Given the description of an element on the screen output the (x, y) to click on. 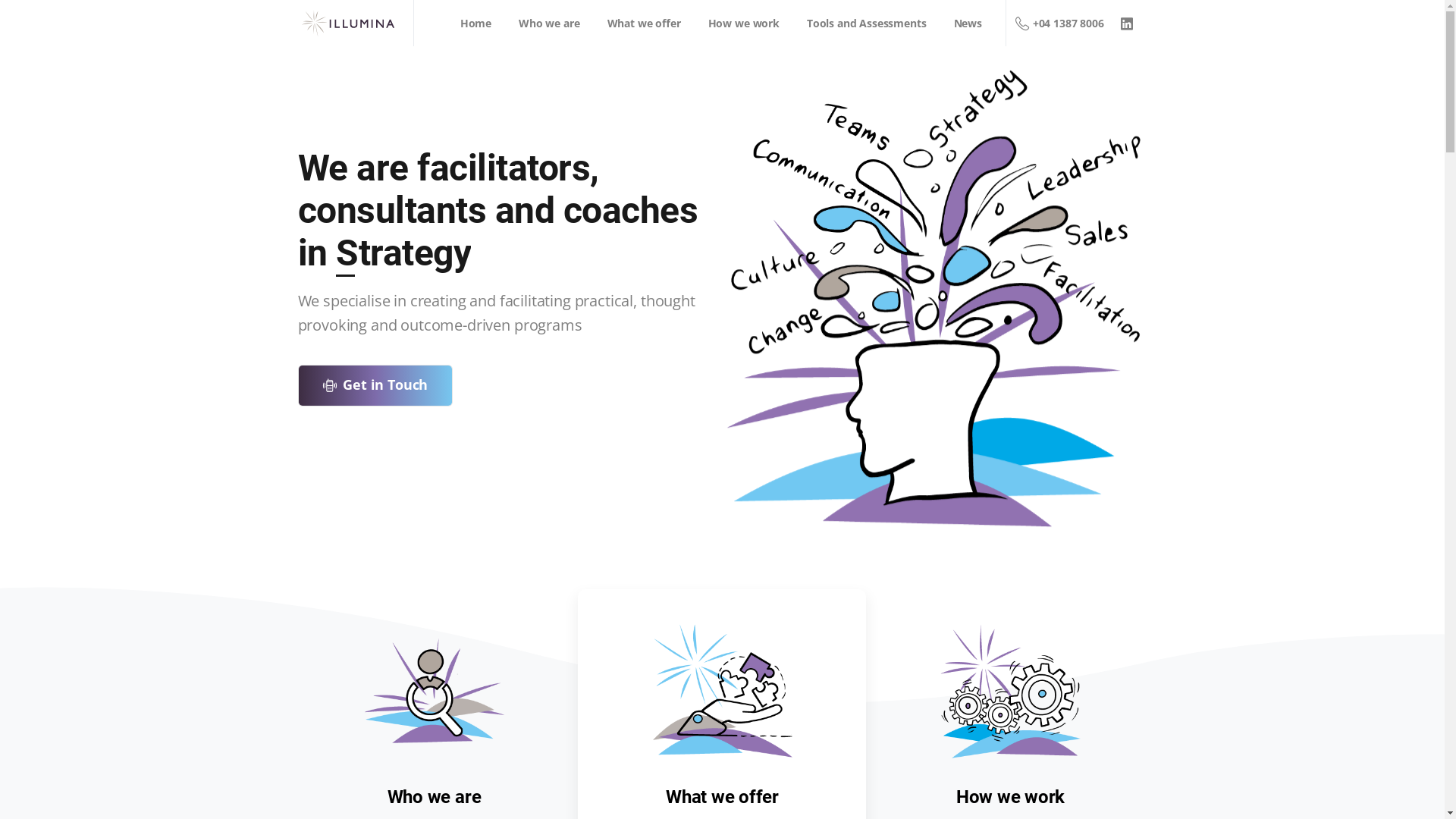
News Element type: text (967, 23)
Who we are Element type: text (1016, 645)
Who we are Element type: text (548, 23)
Home Element type: text (475, 23)
What we offer Element type: text (644, 23)
+04 1387 8006 Element type: text (1059, 22)
Tools and Assessments Element type: text (866, 23)
What we offer Element type: text (1016, 678)
linkedin Element type: hover (1126, 23)
How we work Element type: text (1016, 711)
Get in Touch Element type: text (375, 385)
How we work Element type: text (743, 23)
